Given the description of an element on the screen output the (x, y) to click on. 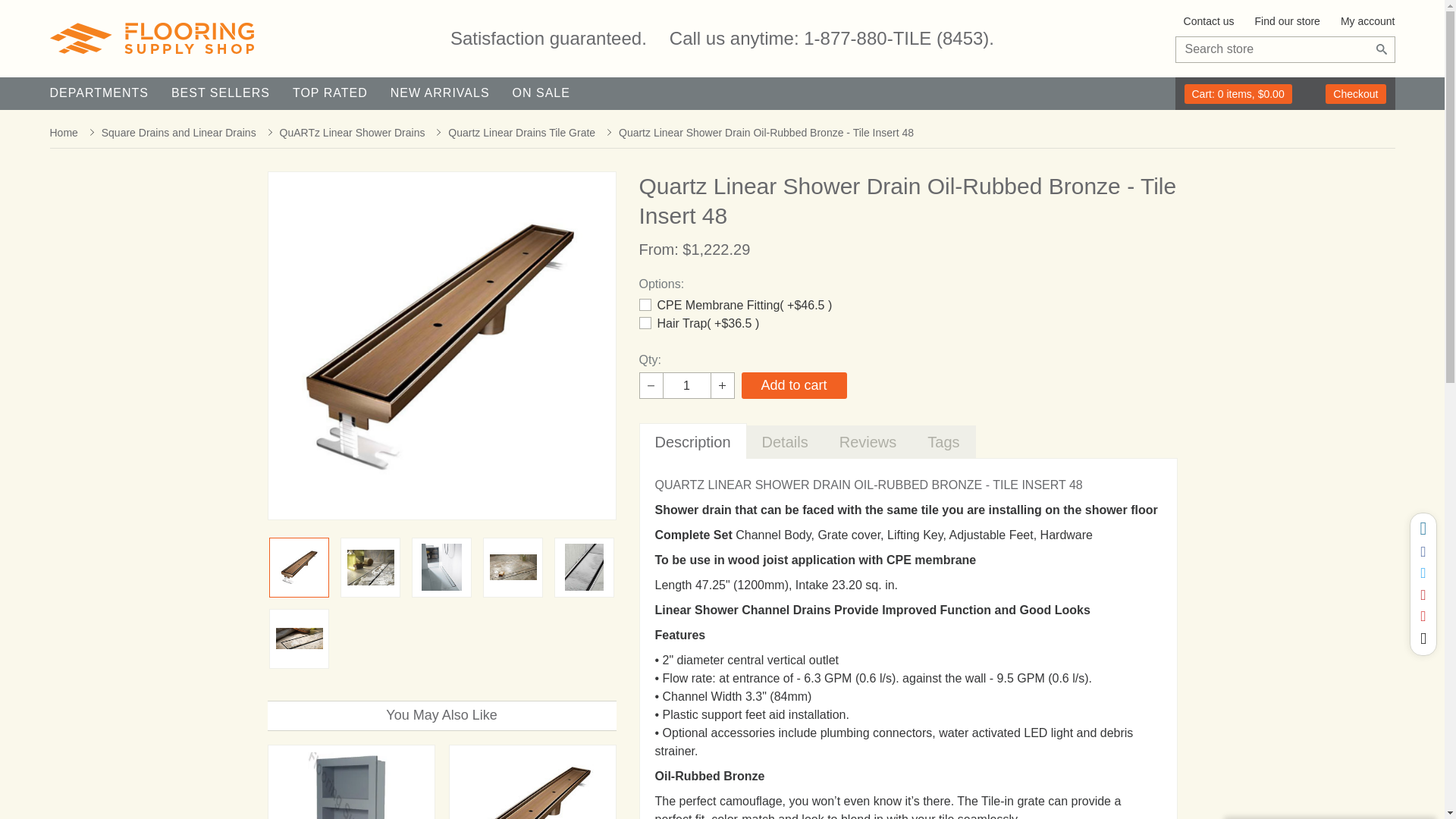
1 (686, 385)
